Given the description of an element on the screen output the (x, y) to click on. 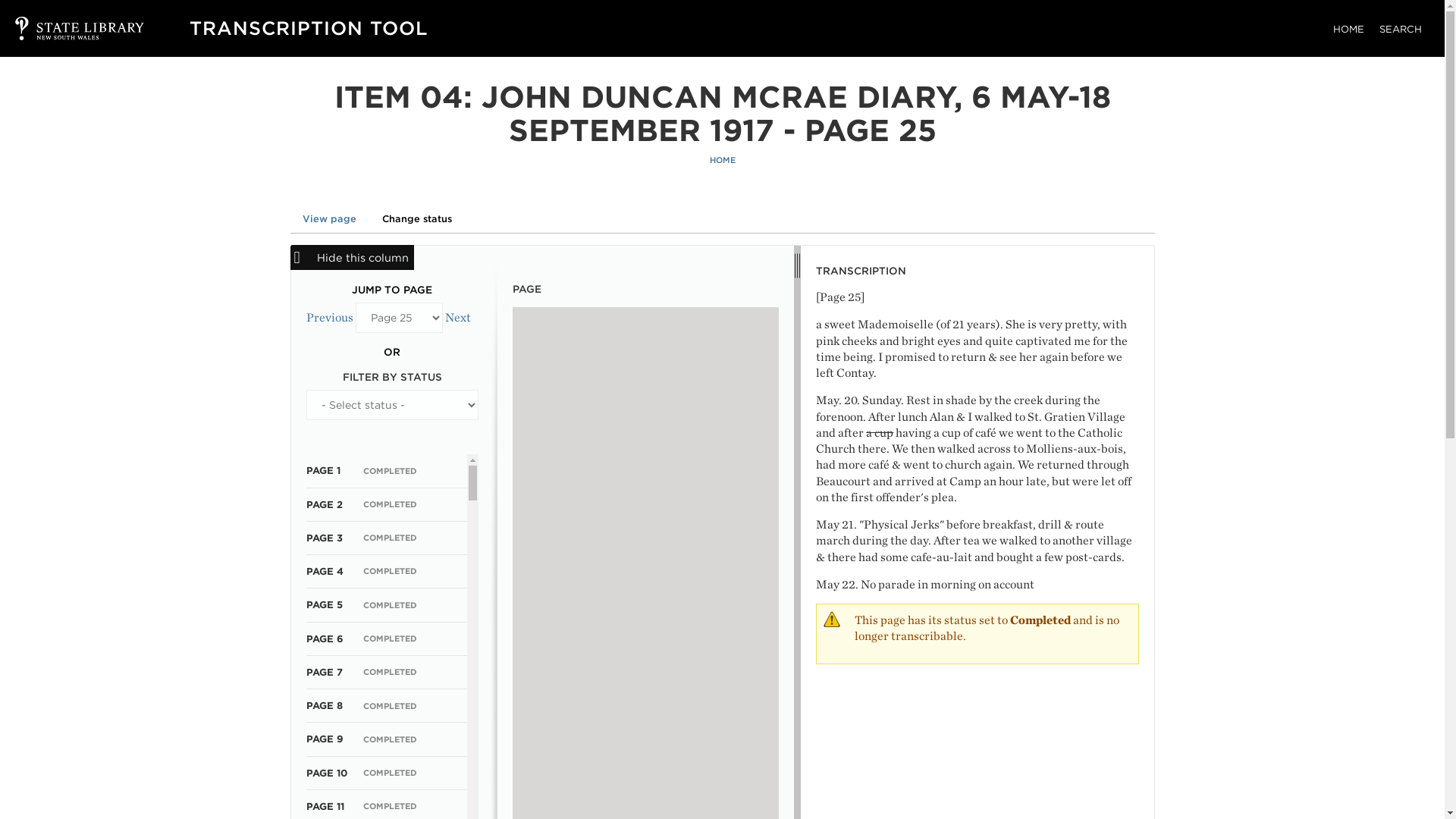
SEARCH (1400, 29)
PAGE 11 (324, 806)
Hide this column (351, 257)
PAGE 6 (324, 638)
PAGE 1 (322, 470)
PAGE 8 (323, 705)
Next (457, 317)
PAGE 7 (323, 672)
Previous (329, 317)
